Given the description of an element on the screen output the (x, y) to click on. 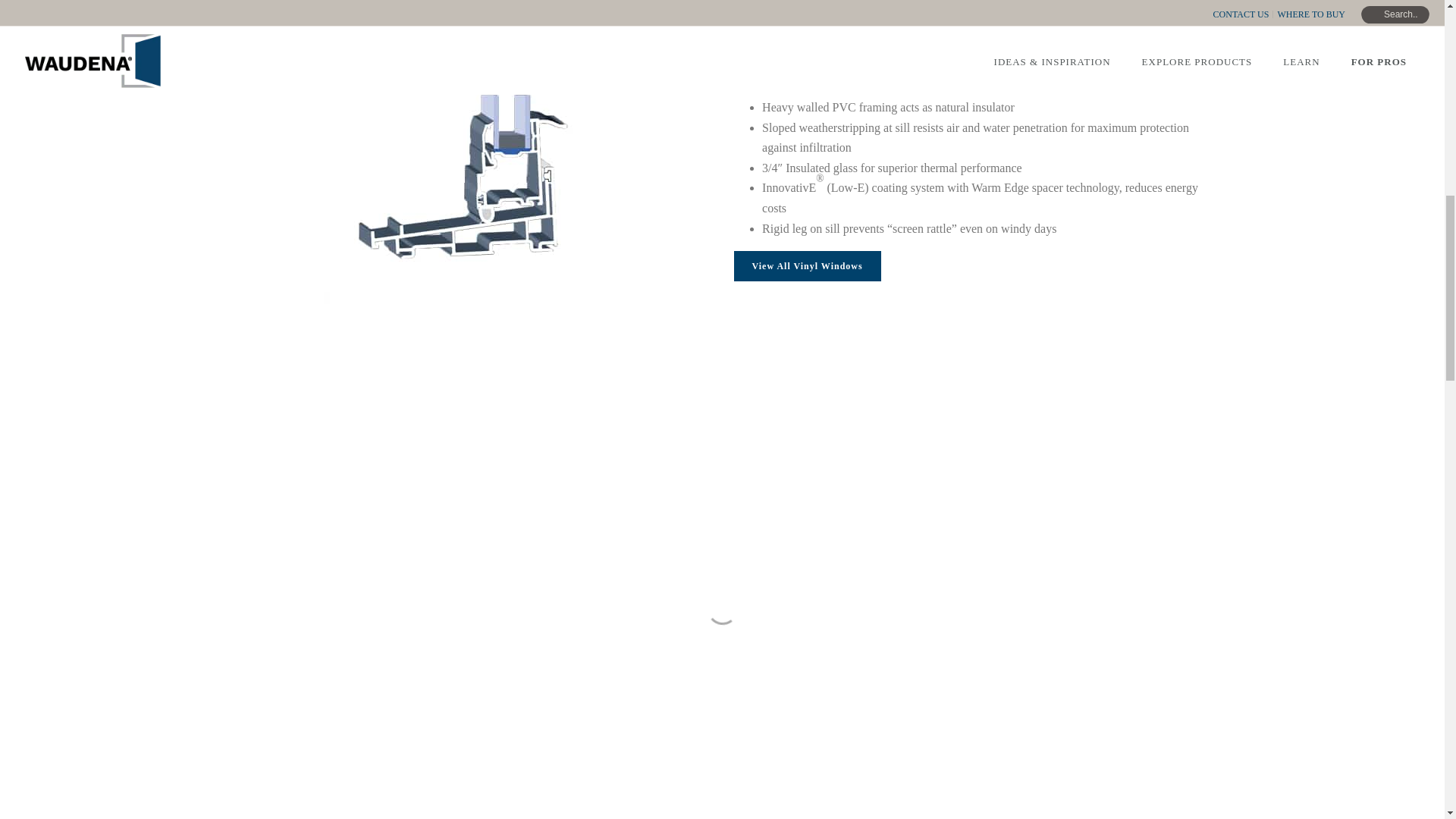
View All Vinyl Windows (806, 265)
